Given the description of an element on the screen output the (x, y) to click on. 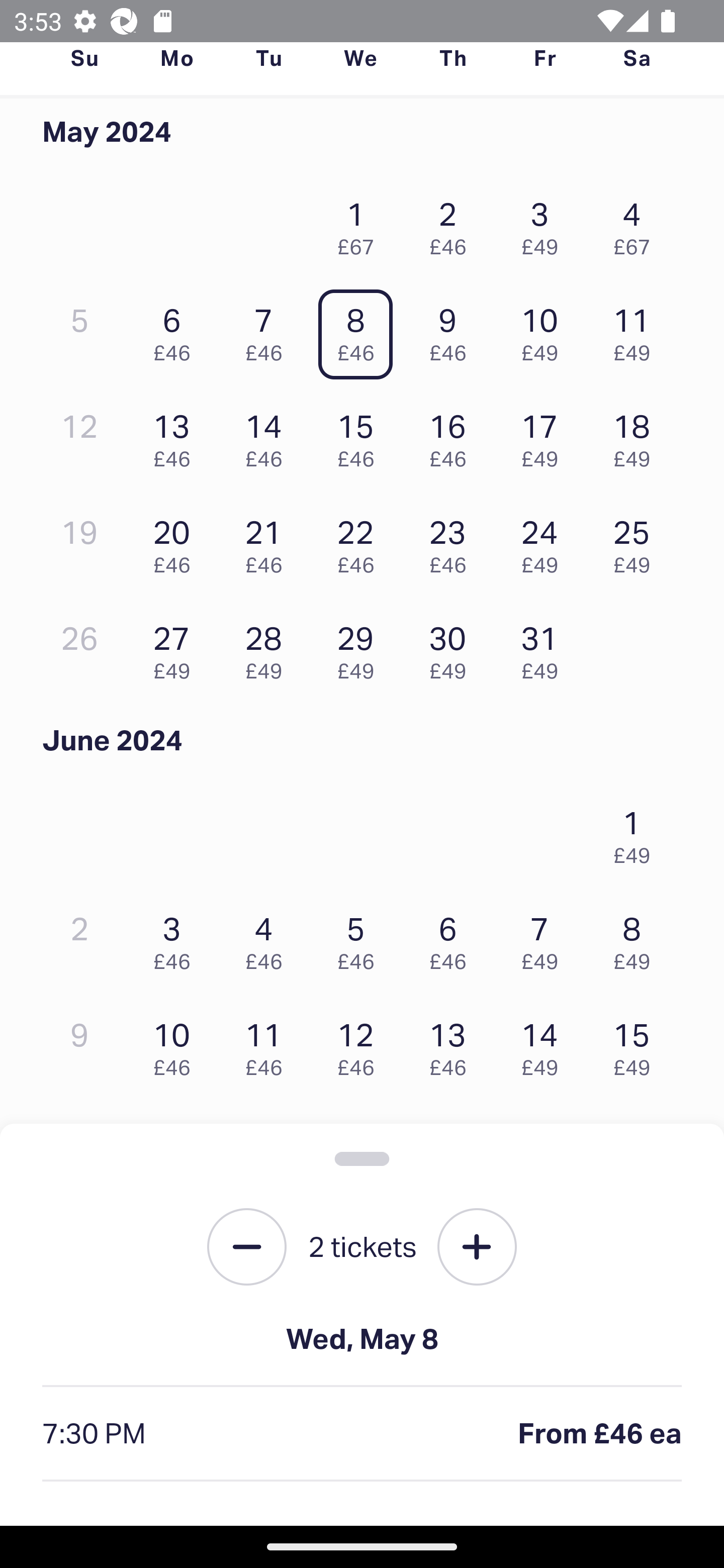
1 £67 (360, 223)
2 £46 (452, 223)
3 £49 (544, 223)
4 £67 (636, 223)
6 £46 (176, 329)
7 £46 (268, 329)
8 £46 (360, 329)
9 £46 (452, 329)
10 £49 (544, 329)
11 £49 (636, 329)
13 £46 (176, 435)
14 £46 (268, 435)
15 £46 (360, 435)
16 £46 (452, 435)
17 £49 (544, 435)
18 £49 (636, 435)
20 £46 (176, 541)
21 £46 (268, 541)
22 £46 (360, 541)
23 £46 (452, 541)
24 £49 (544, 541)
25 £49 (636, 541)
27 £49 (176, 647)
28 £49 (268, 647)
29 £49 (360, 647)
30 £49 (452, 647)
31 £49 (544, 647)
1 £49 (636, 831)
3 £46 (176, 938)
4 £46 (268, 938)
5 £46 (360, 938)
6 £46 (452, 938)
7 £49 (544, 938)
8 £49 (636, 938)
10 £46 (176, 1044)
11 £46 (268, 1044)
12 £46 (360, 1044)
13 £46 (452, 1044)
14 £49 (544, 1044)
15 £49 (636, 1044)
19 £46 (360, 1149)
7:30 PM From £46 ea (361, 1434)
